Given the description of an element on the screen output the (x, y) to click on. 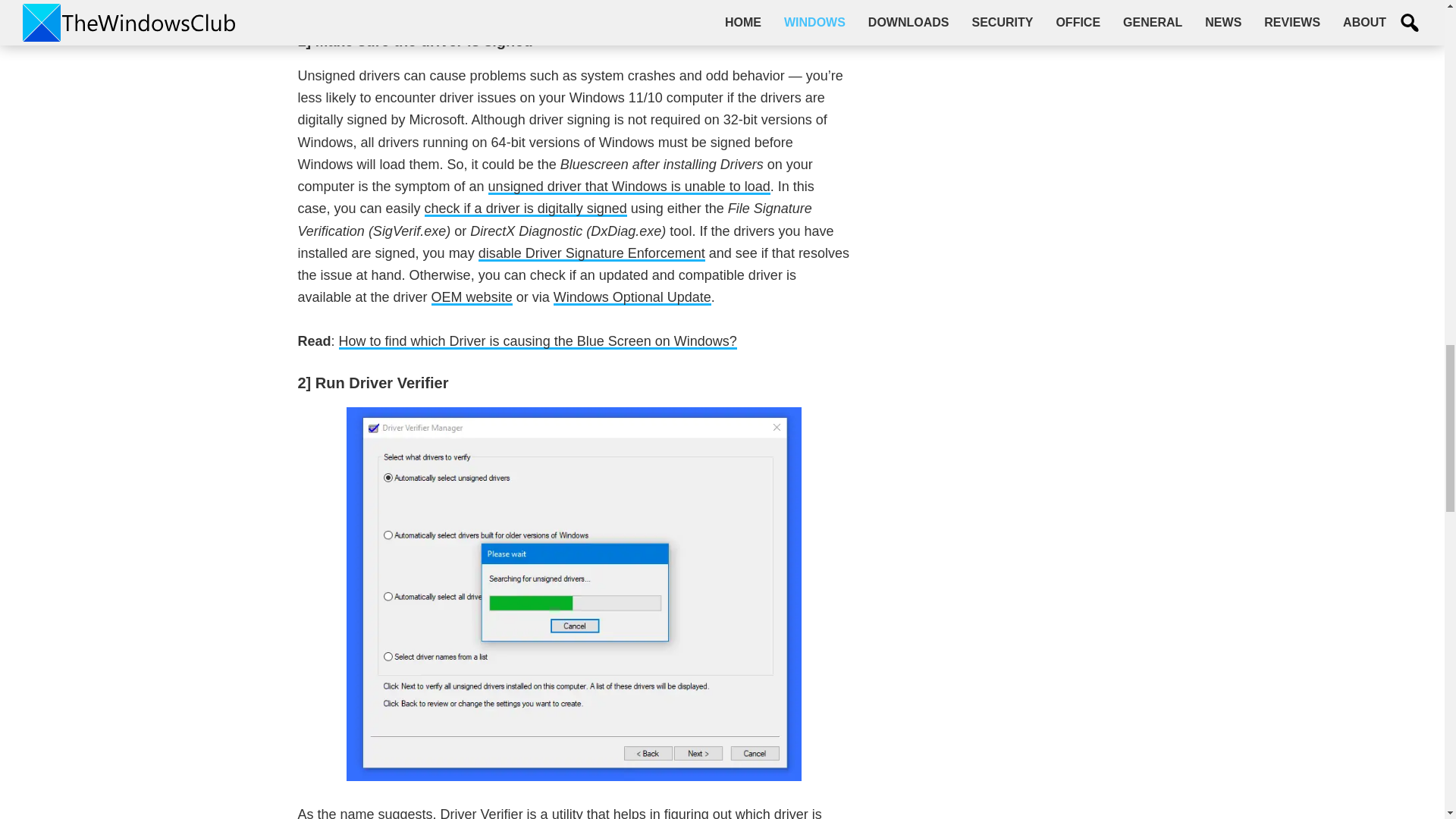
unsigned driver that Windows is unable to load (628, 186)
Windows Optional Update (632, 297)
disable Driver Signature Enforcement (591, 253)
check if a driver is digitally signed (526, 208)
Troubleshoot Windows Blue Screen of Death or Stop Errors (517, 3)
OEM website (471, 297)
